Given the description of an element on the screen output the (x, y) to click on. 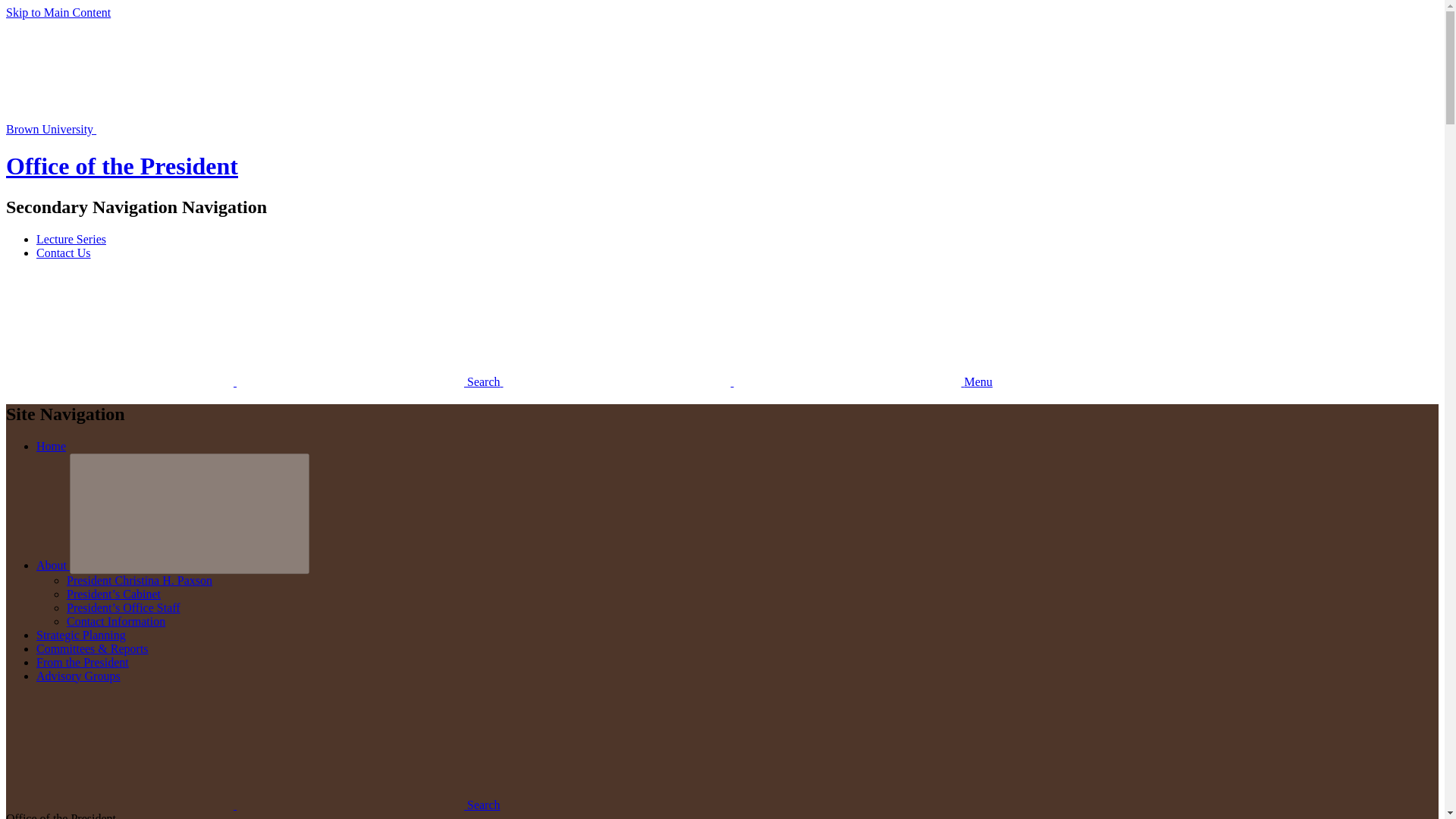
Search (254, 381)
About (52, 564)
Lecture Series (71, 238)
Contact Us (63, 252)
Menu (747, 381)
Advisory Groups (78, 675)
Strategic Planning (80, 634)
From the President (82, 662)
Contact Information (115, 621)
Skip to Main Content (57, 11)
